Given the description of an element on the screen output the (x, y) to click on. 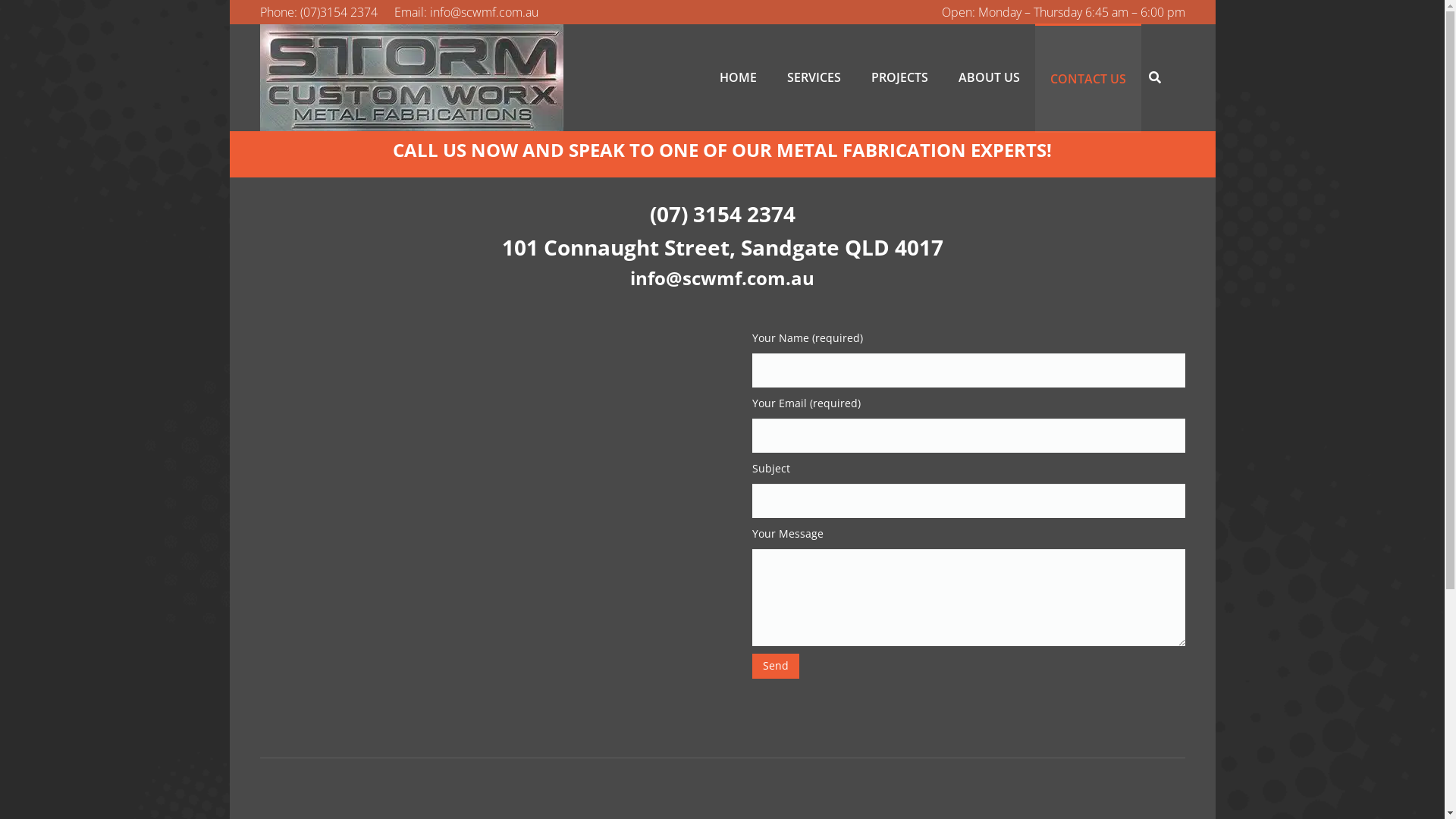
ABOUT US Element type: text (989, 77)
PROJECTS Element type: text (899, 77)
HOME Element type: text (737, 77)
SERVICES Element type: text (813, 77)
Email: info@scwmf.com.au Element type: text (466, 11)
Send Element type: text (775, 665)
Phone: (07)3154 2374 Element type: text (317, 11)
CONTACT US Element type: text (1088, 76)
